Given the description of an element on the screen output the (x, y) to click on. 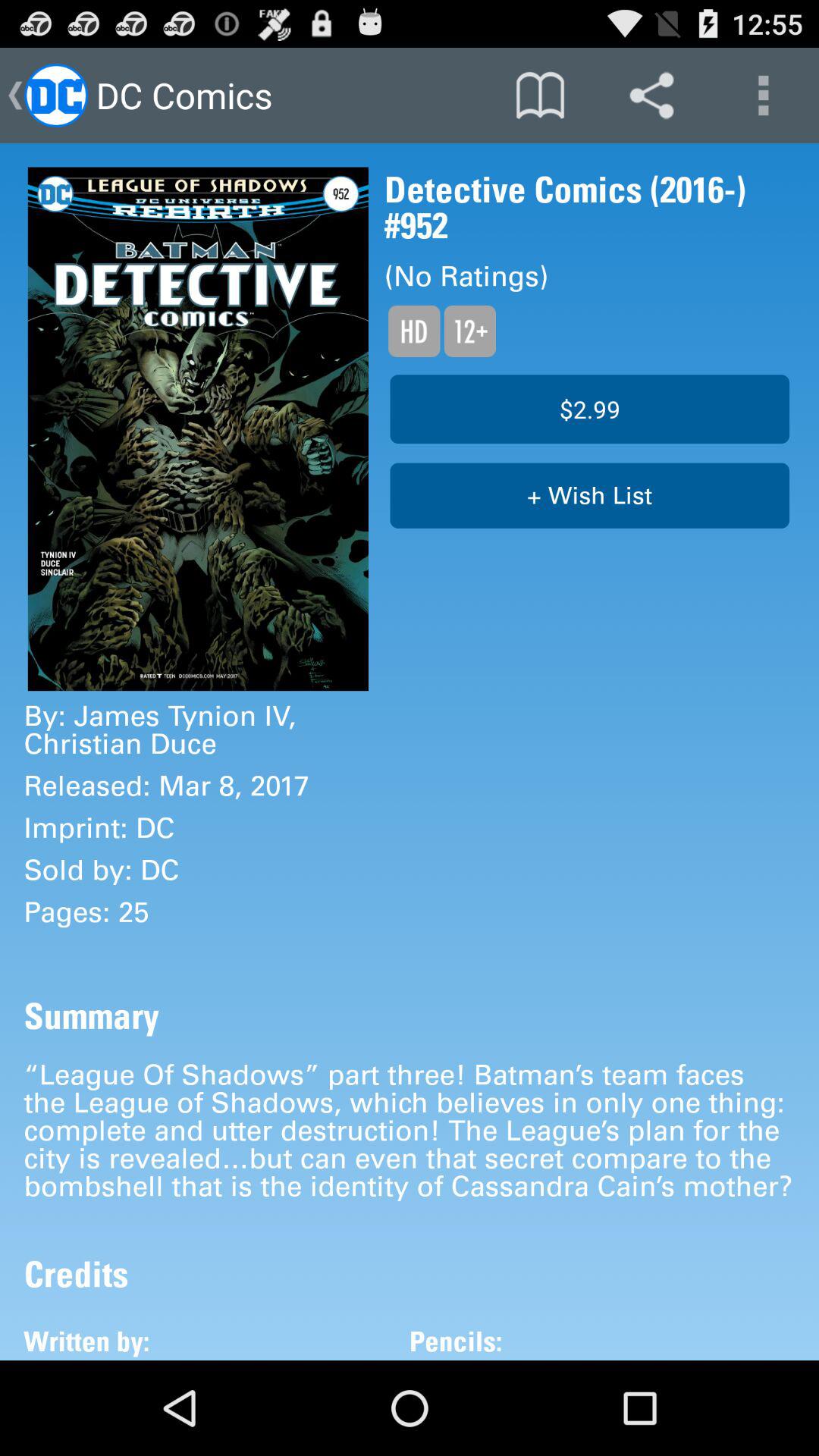
press icon above + wish list icon (589, 409)
